Given the description of an element on the screen output the (x, y) to click on. 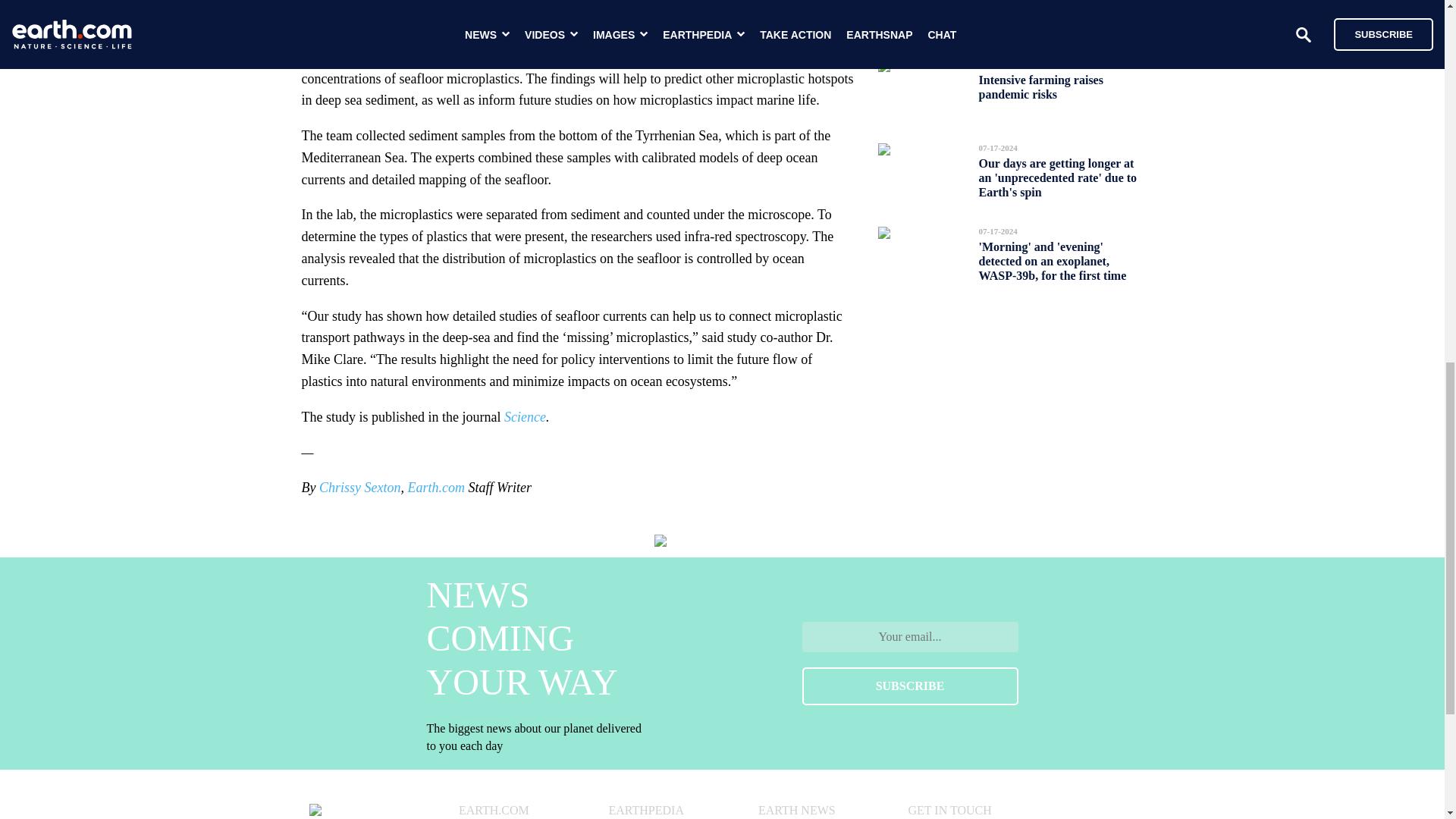
SUBSCRIBE (909, 686)
Intensive farming raises pandemic risks (1040, 87)
Chrissy Sexton (359, 487)
Science (524, 417)
Earth.com (435, 487)
